Given the description of an element on the screen output the (x, y) to click on. 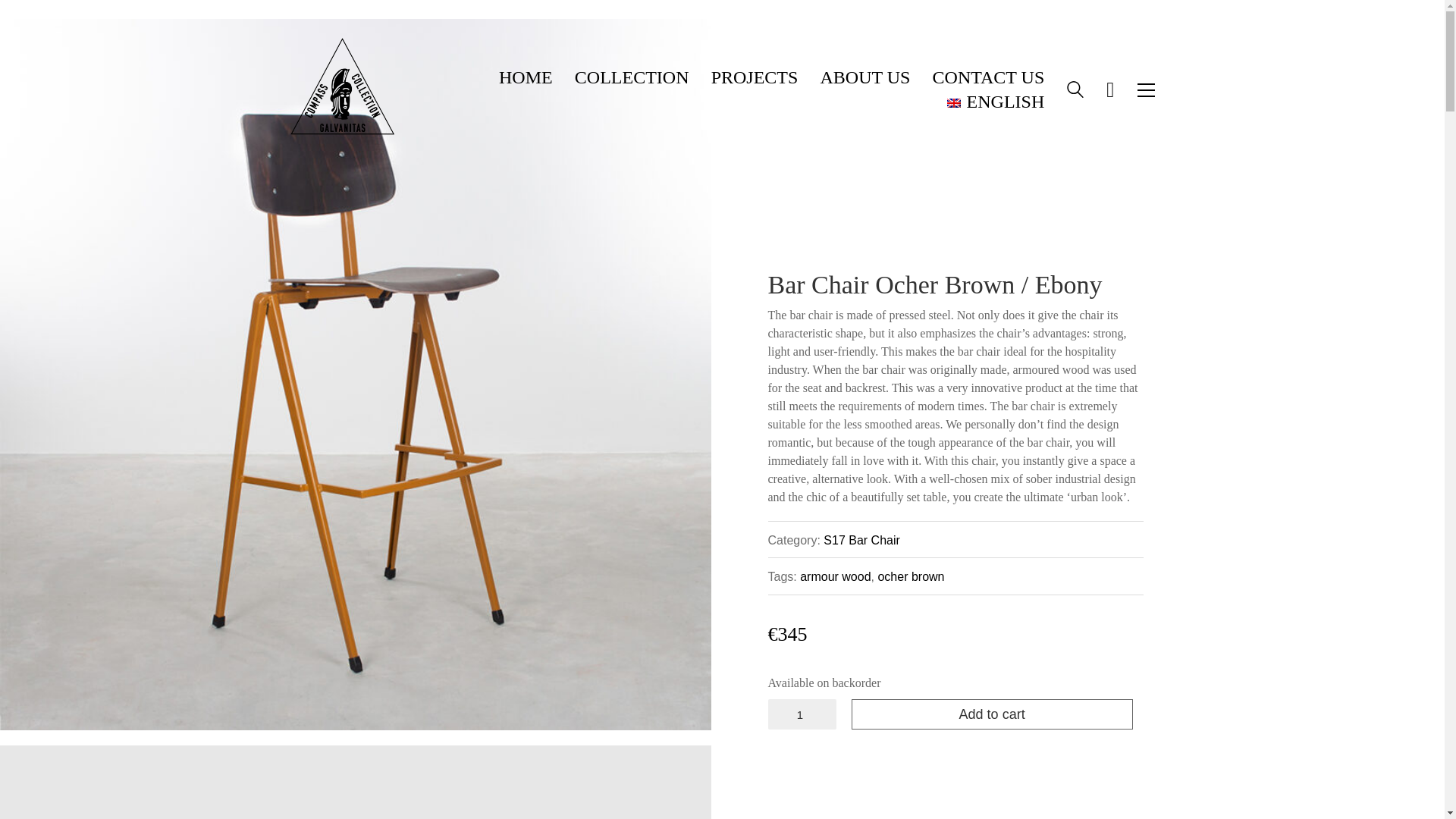
1 (801, 714)
COLLECTION (631, 78)
HOME (526, 78)
English (995, 101)
